Given the description of an element on the screen output the (x, y) to click on. 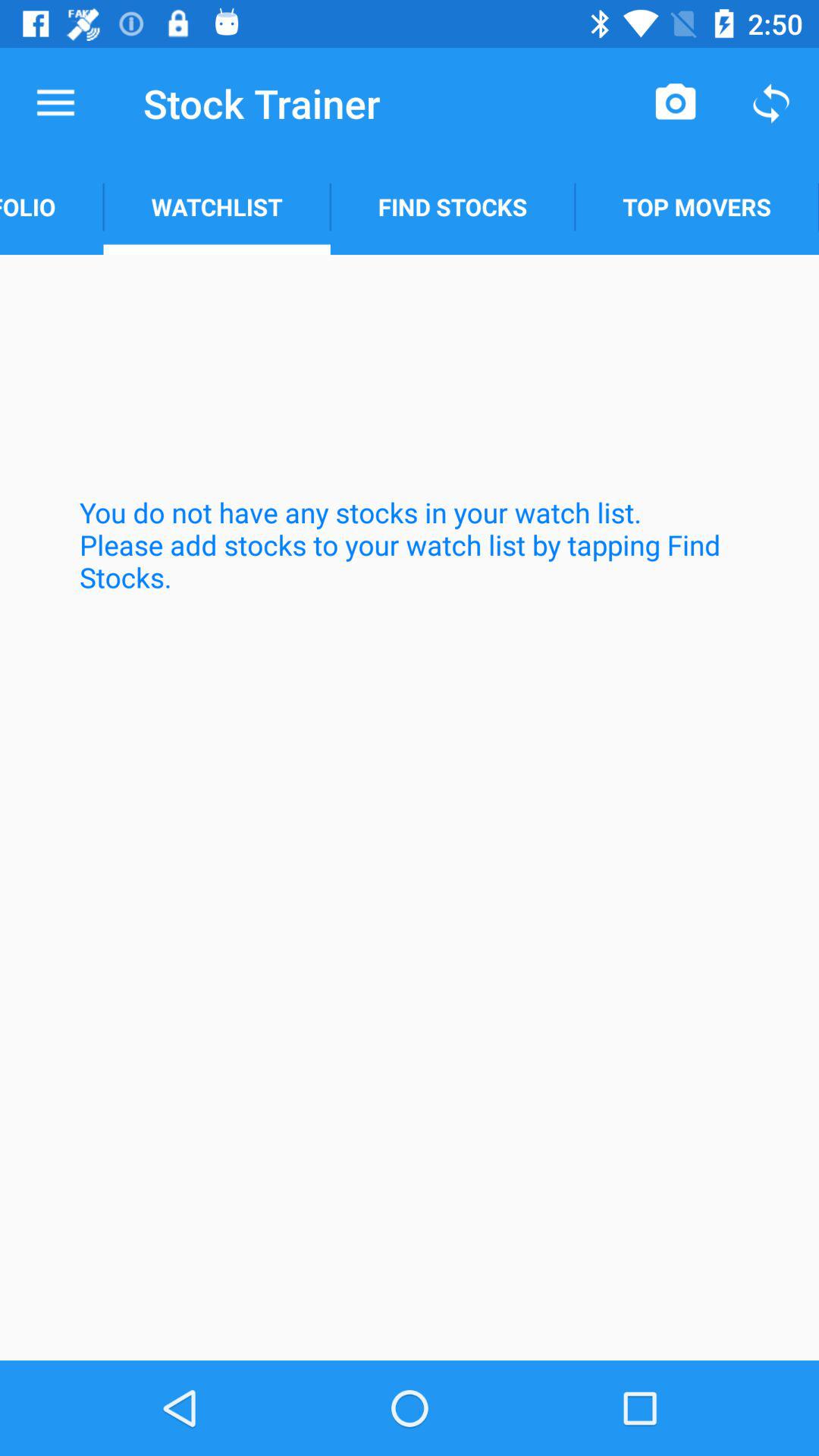
turn off item to the left of stock trainer (55, 103)
